Given the description of an element on the screen output the (x, y) to click on. 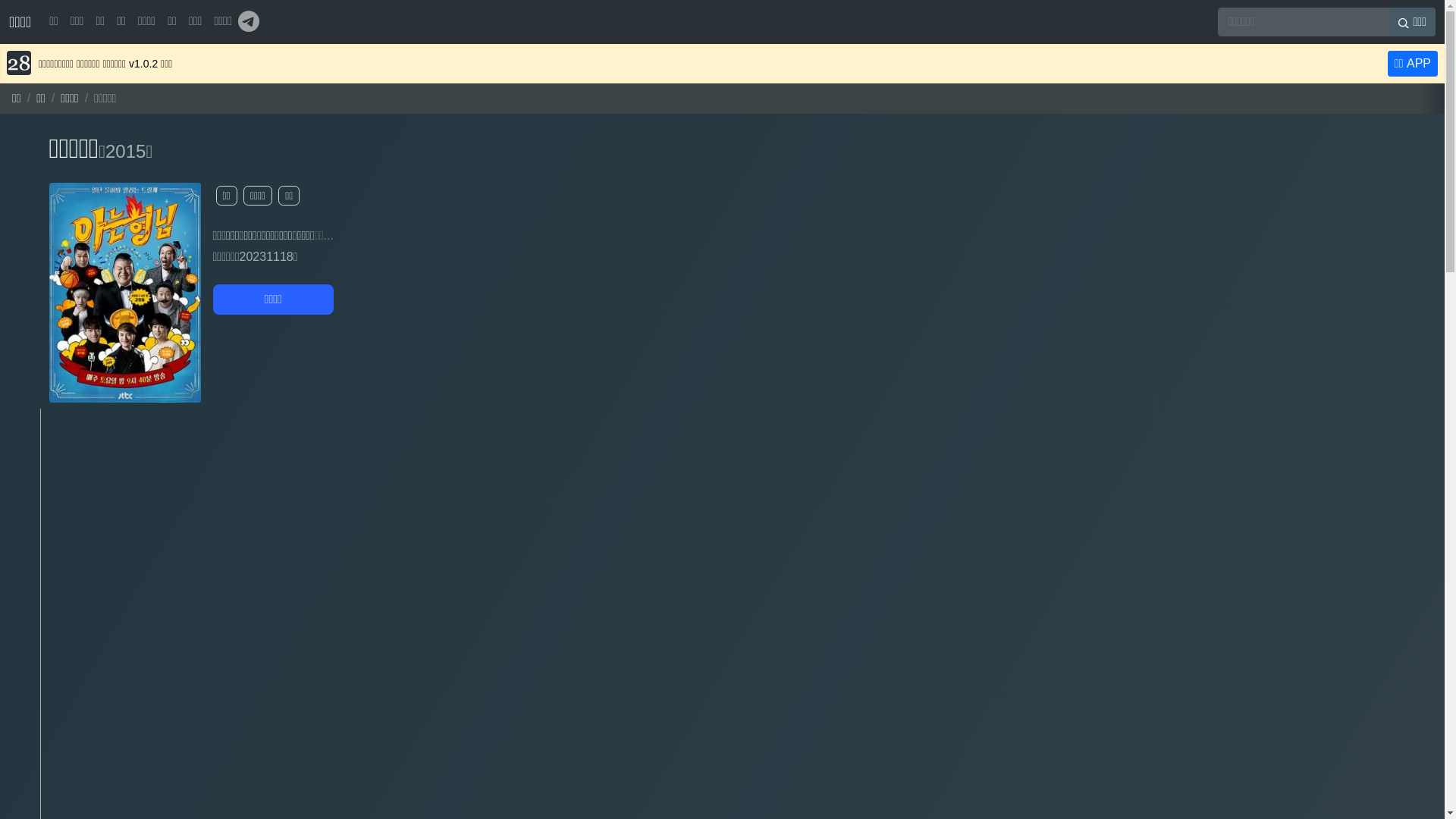
2015 Element type: text (125, 151)
